Given the description of an element on the screen output the (x, y) to click on. 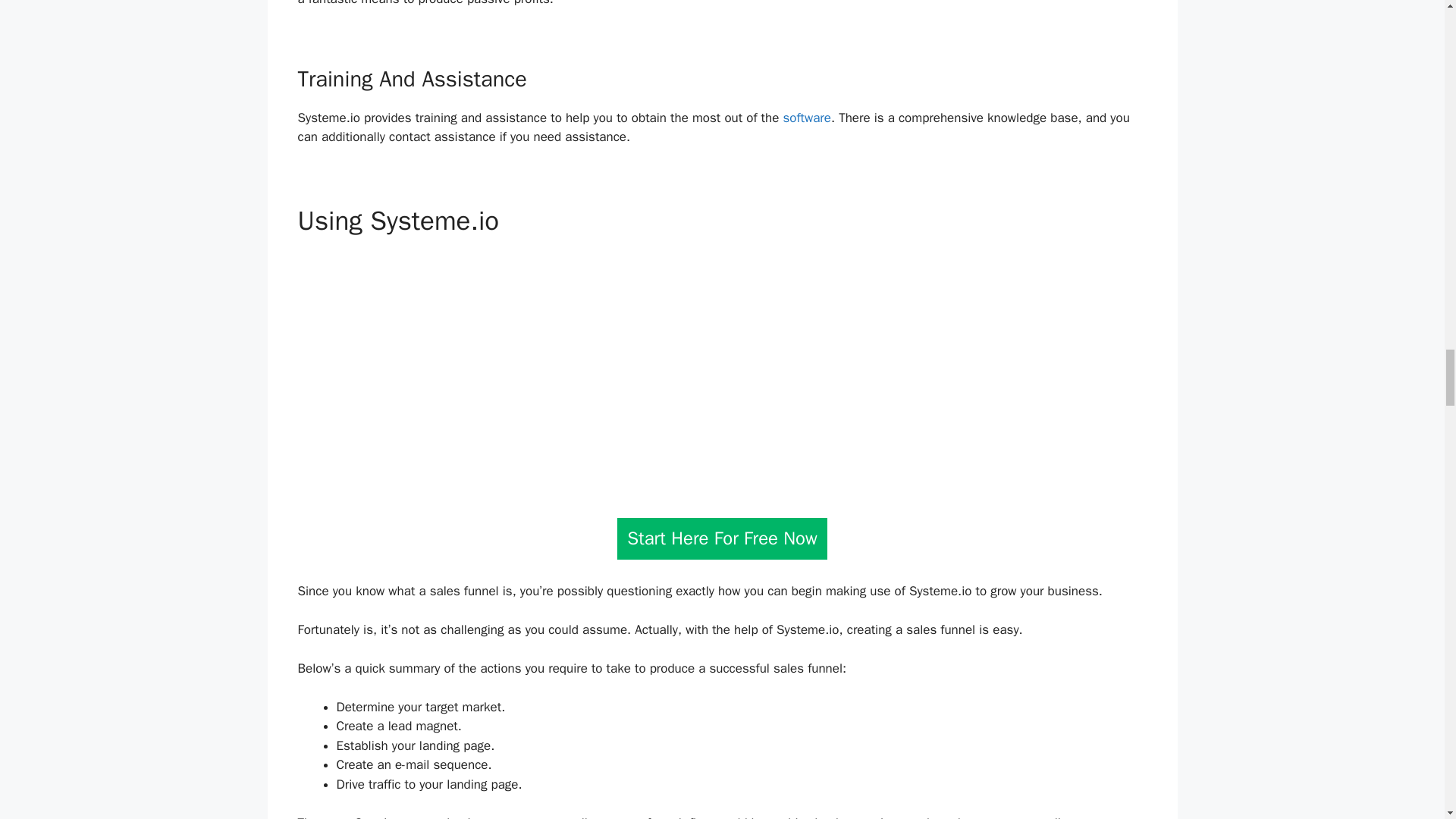
software (806, 117)
Start Here For Free Now (722, 538)
YouTube video player (721, 370)
